Given the description of an element on the screen output the (x, y) to click on. 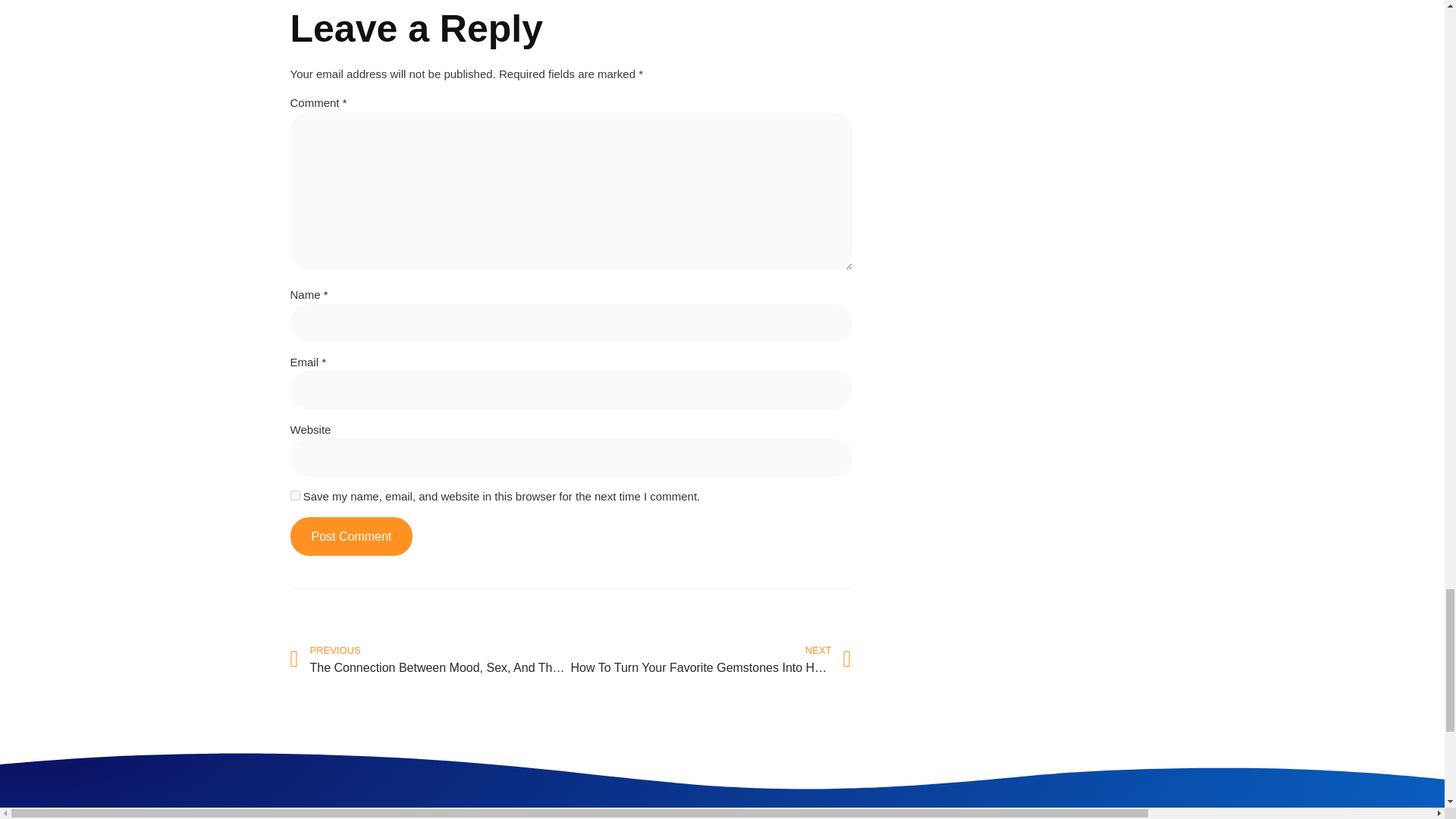
Post Comment (350, 536)
yes (294, 495)
